Given the description of an element on the screen output the (x, y) to click on. 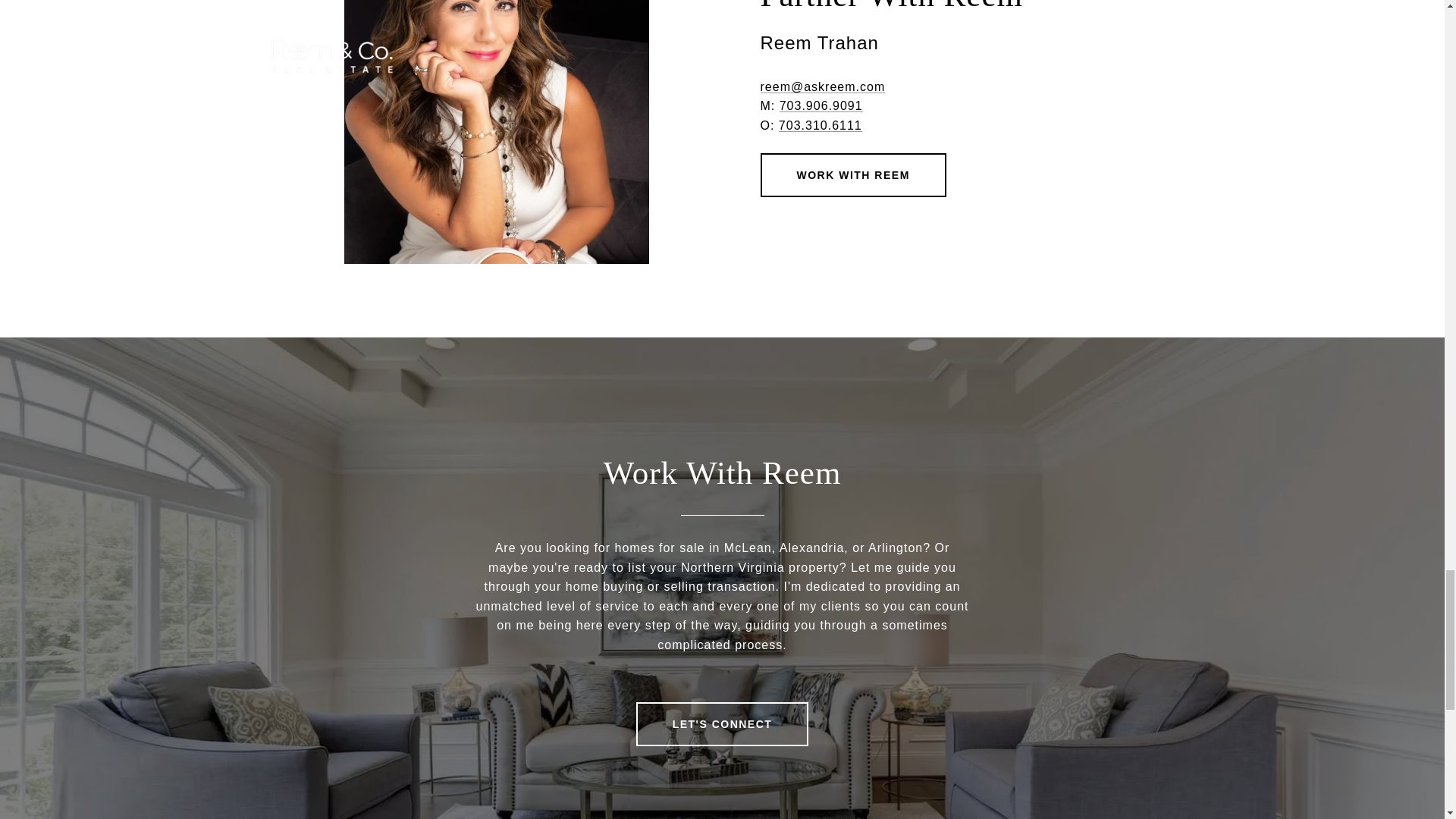
703.906.9091 (820, 105)
